Given the description of an element on the screen output the (x, y) to click on. 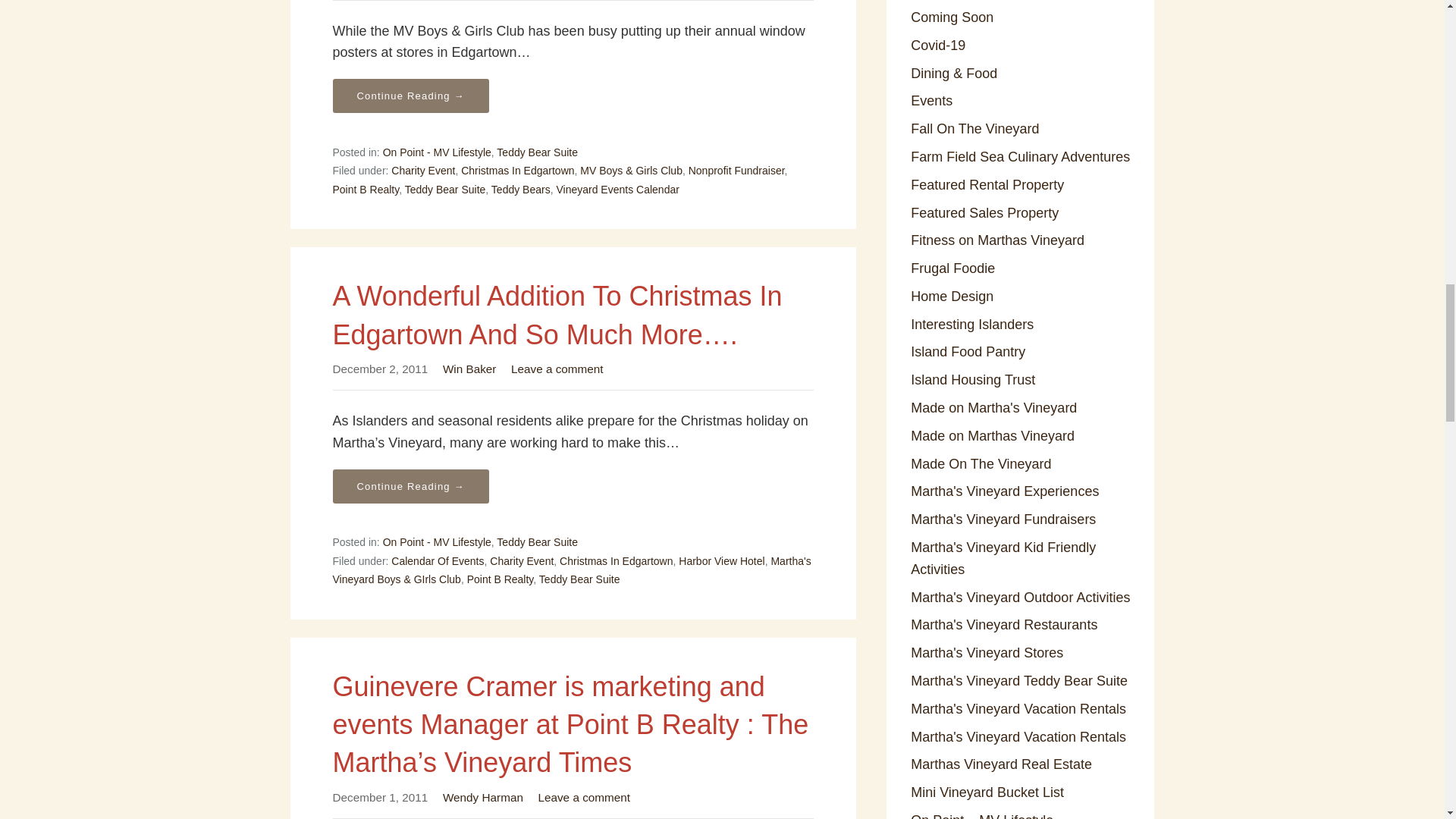
Posts by Win Baker (469, 368)
Posts by Wendy Harman (482, 797)
